Given the description of an element on the screen output the (x, y) to click on. 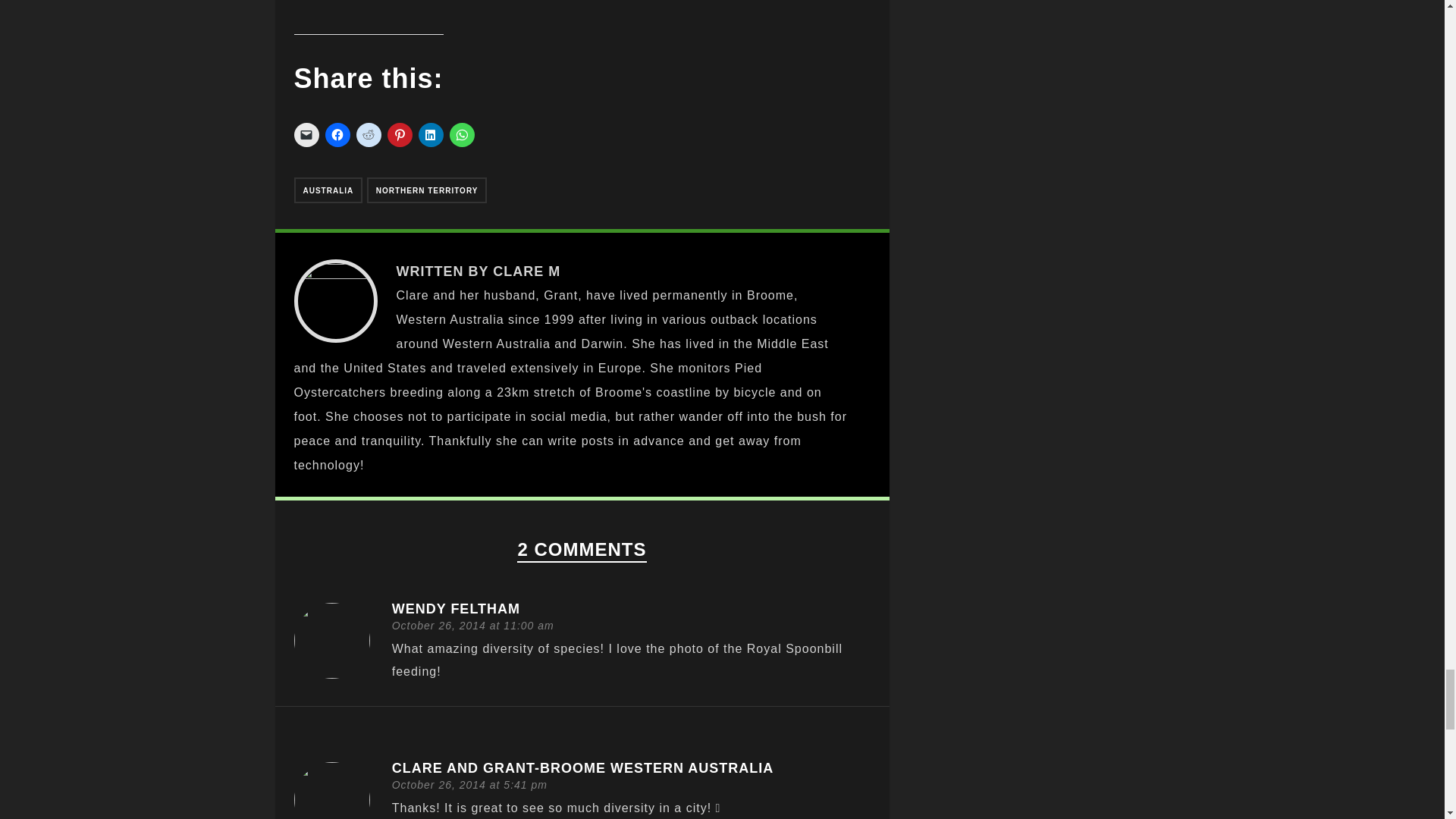
Click to share on LinkedIn (431, 134)
Click to share on Pinterest (399, 134)
Click to share on Facebook (336, 134)
Click to share on Reddit (368, 134)
Click to share on WhatsApp (461, 134)
Click to email a link to a friend (306, 134)
